Given the description of an element on the screen output the (x, y) to click on. 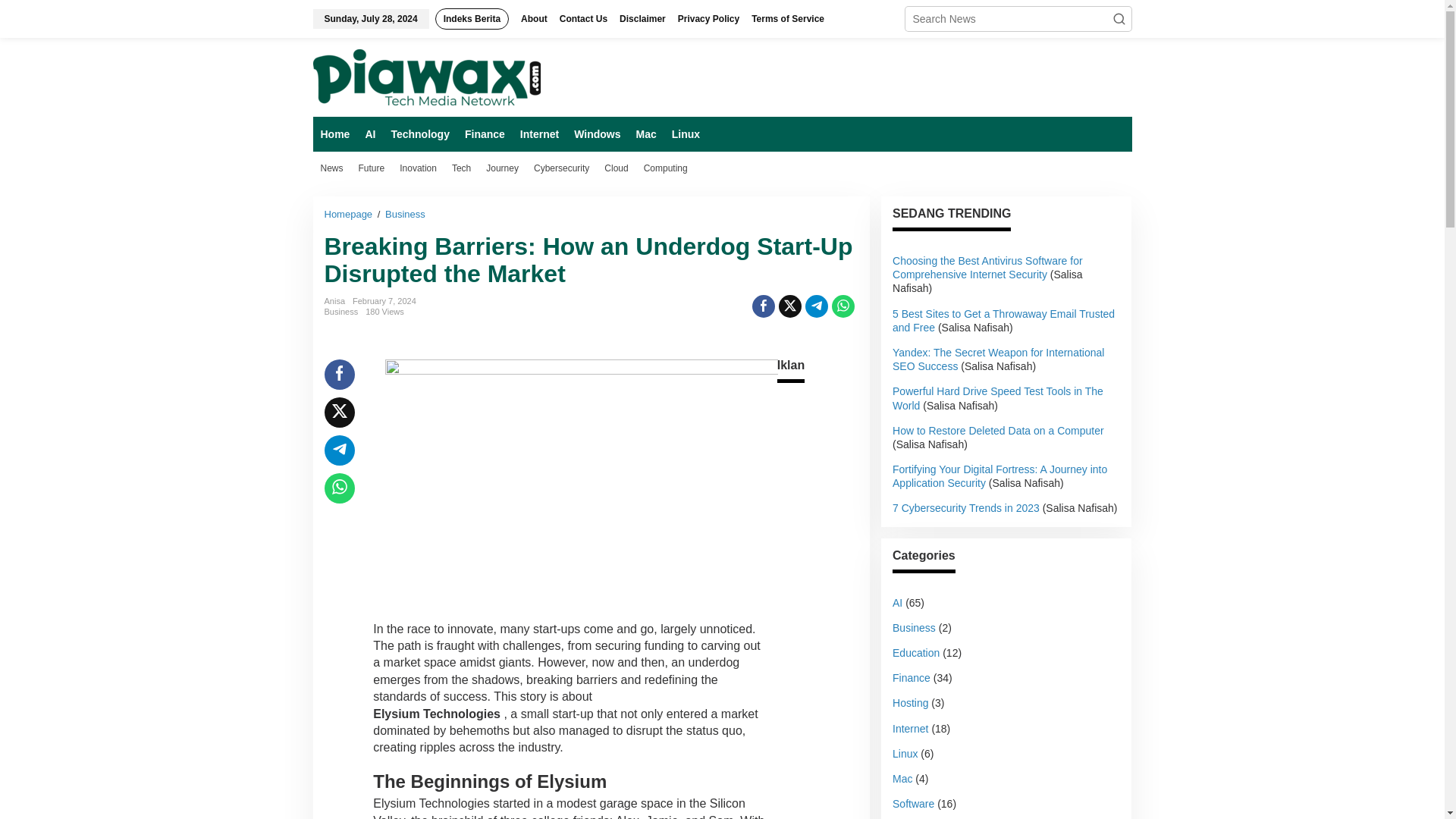
Finance (484, 134)
Cybersecurity (560, 168)
Contact Us (582, 18)
Internet (539, 134)
Piawax (426, 77)
Computing (665, 168)
Technology (419, 134)
Disclaimer (641, 18)
Business (405, 214)
Windows (596, 134)
Journey (502, 168)
Home (334, 134)
Cloud (615, 168)
Share this (339, 374)
